Given the description of an element on the screen output the (x, y) to click on. 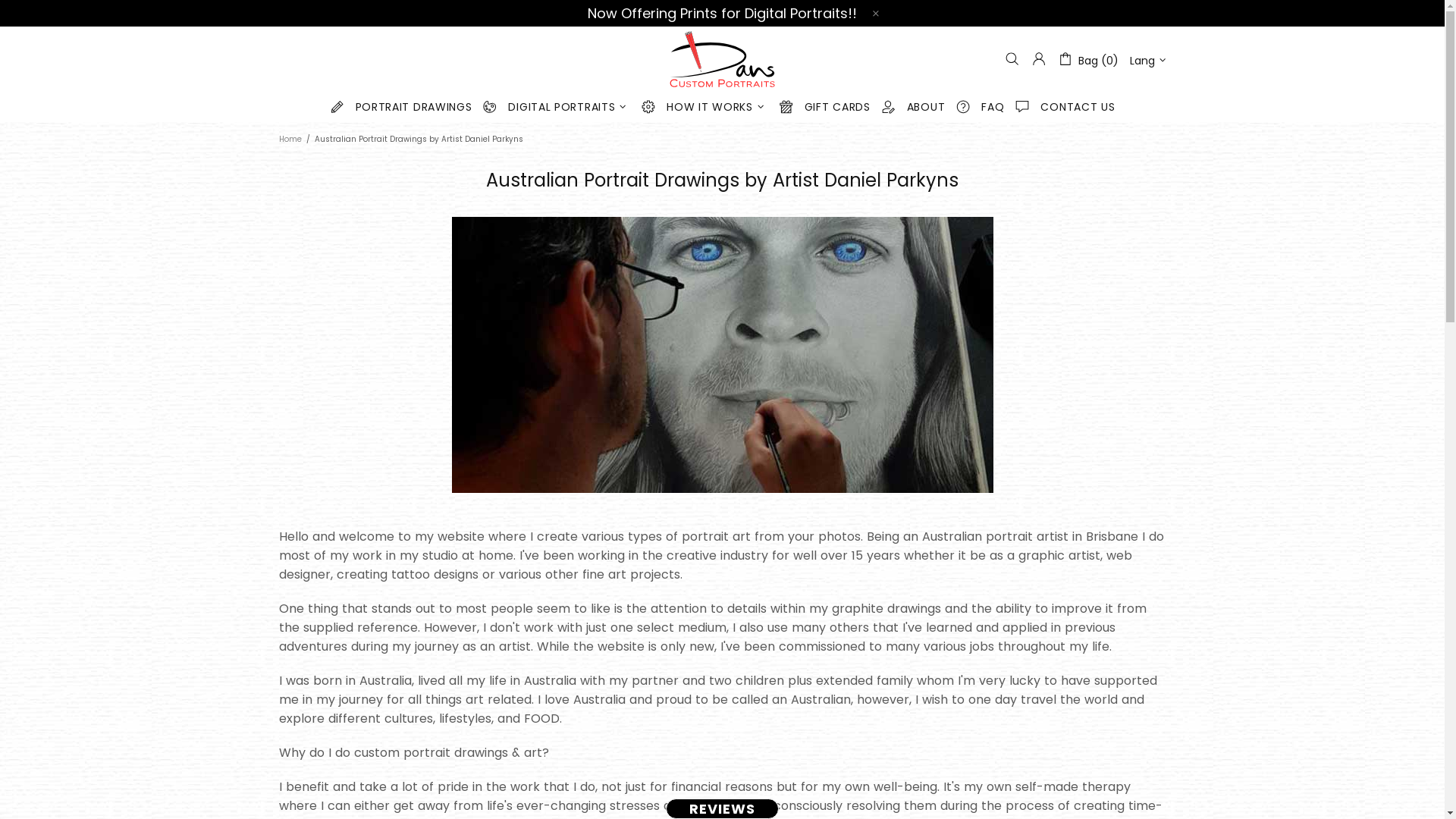
SUBSCRIBE! Element type: text (1106, 482)
Twitter Element type: text (1062, 585)
Refund policy Element type: text (603, 586)
Dans Custom Portraits Element type: text (721, 59)
Gift Cards Element type: text (449, 604)
Facebook Element type: text (1069, 565)
GIFT CARDS Element type: text (824, 106)
117 Element type: text (946, 616)
Search Element type: text (297, 567)
Terms Of Services Element type: text (327, 623)
Shipping Policy Element type: text (606, 604)
Dans Custom Portraits Element type: text (309, 776)
Youtube Element type: text (1066, 644)
FAQ Element type: text (979, 106)
Home Element type: text (289, 139)
Privacy Element type: text (297, 586)
Instagram Element type: text (1071, 604)
Pinterest Element type: text (1067, 624)
Bag (0) Element type: text (1087, 58)
Dans Custom Portraits Element type: text (508, 777)
HOW IT WORKS Element type: text (703, 106)
Links Element type: text (435, 623)
PORTRAIT DRAWINGS Element type: text (400, 106)
Refund Policy Element type: text (314, 604)
Powered by Shopify Element type: text (625, 777)
DIGITAL PORTRAITS Element type: text (555, 106)
CONTACT US Element type: text (1064, 106)
Drawing Aftercare Element type: text (471, 567)
Terms of Service Element type: text (612, 567)
Reference Guide & Tips Element type: text (484, 586)
ABOUT Element type: text (912, 106)
